Given the description of an element on the screen output the (x, y) to click on. 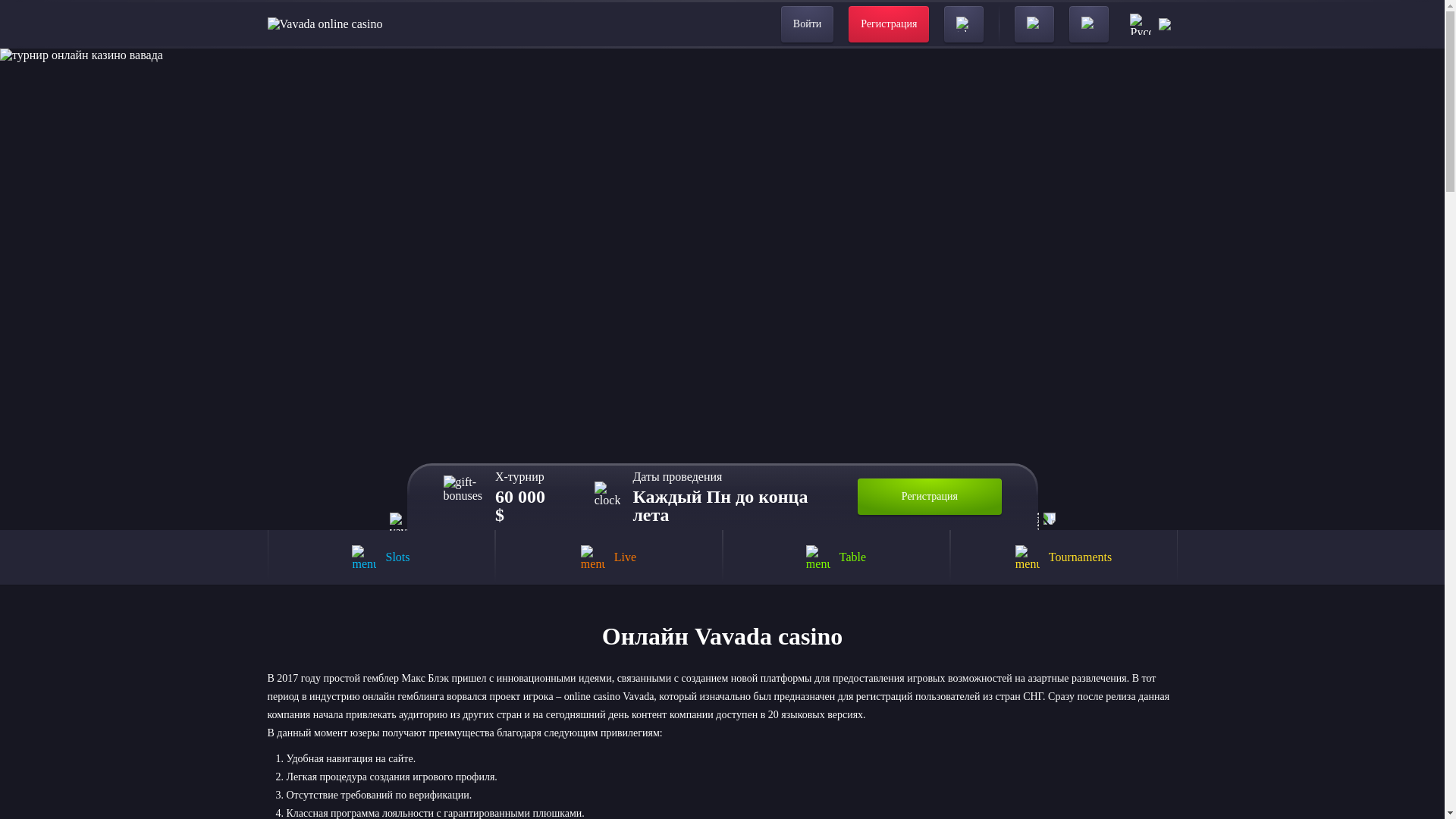
Table (835, 556)
Tournaments (1062, 556)
app-store (1034, 23)
menu-item (817, 557)
menu-item (1026, 557)
Slots (380, 556)
vavada mob version (398, 521)
menu-item (363, 557)
Vavada site (323, 24)
vavada offsite online casino (1045, 521)
